Given the description of an element on the screen output the (x, y) to click on. 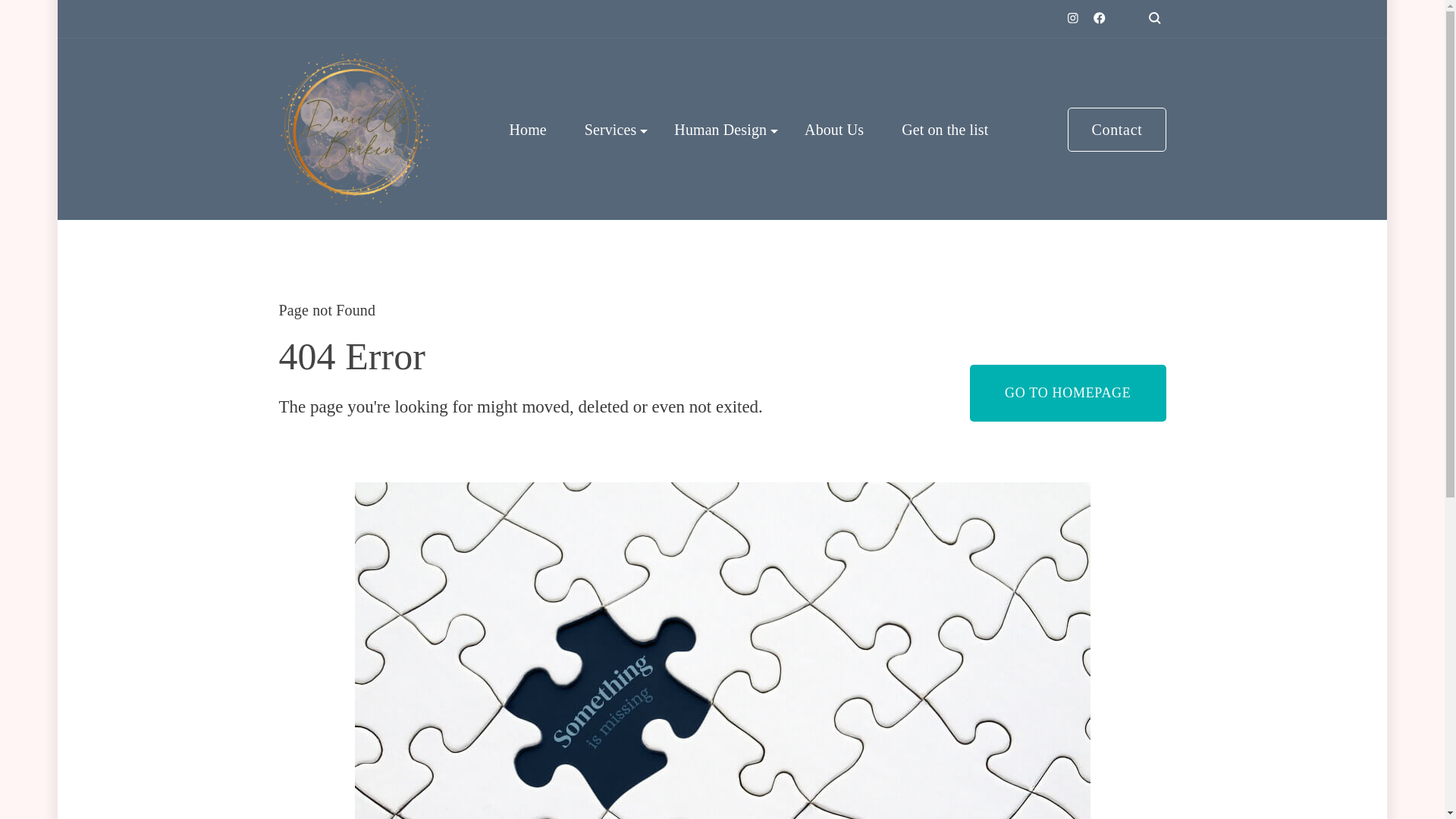
Home (526, 129)
Human Design (720, 129)
Danielle Burken (345, 222)
Services (611, 129)
